Given the description of an element on the screen output the (x, y) to click on. 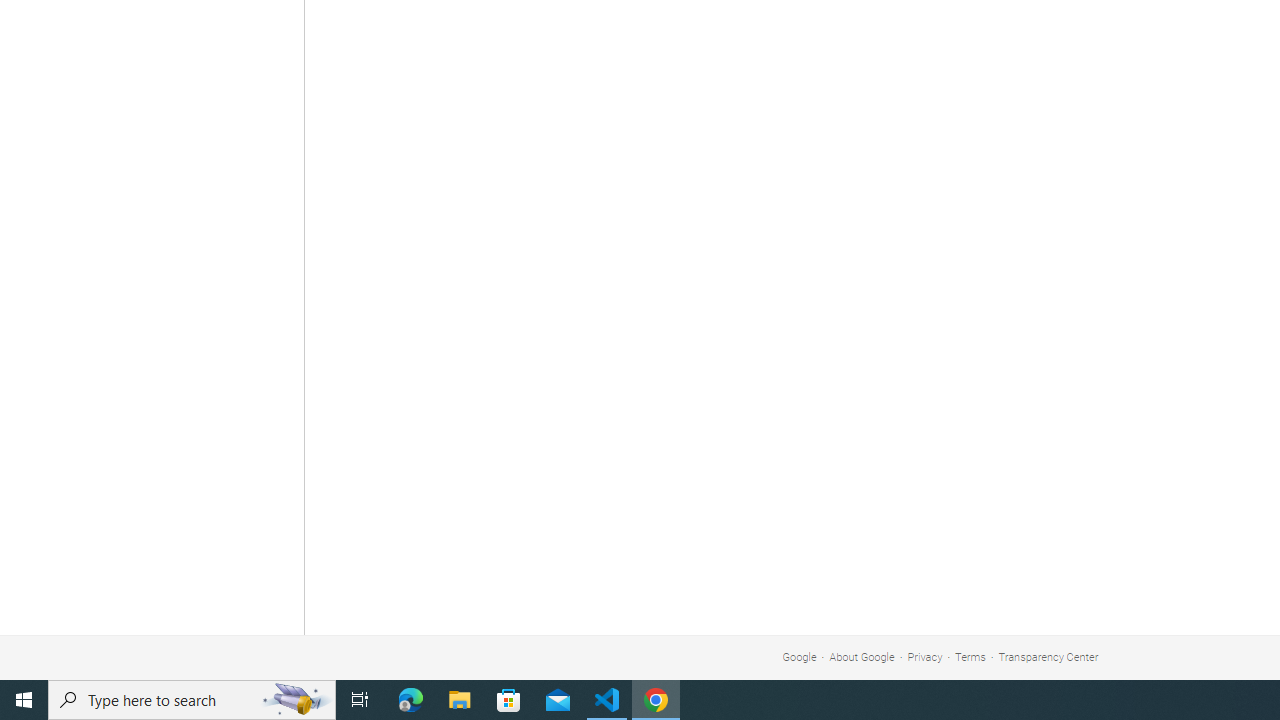
Transparency Center (1048, 656)
About Google (861, 656)
